Given the description of an element on the screen output the (x, y) to click on. 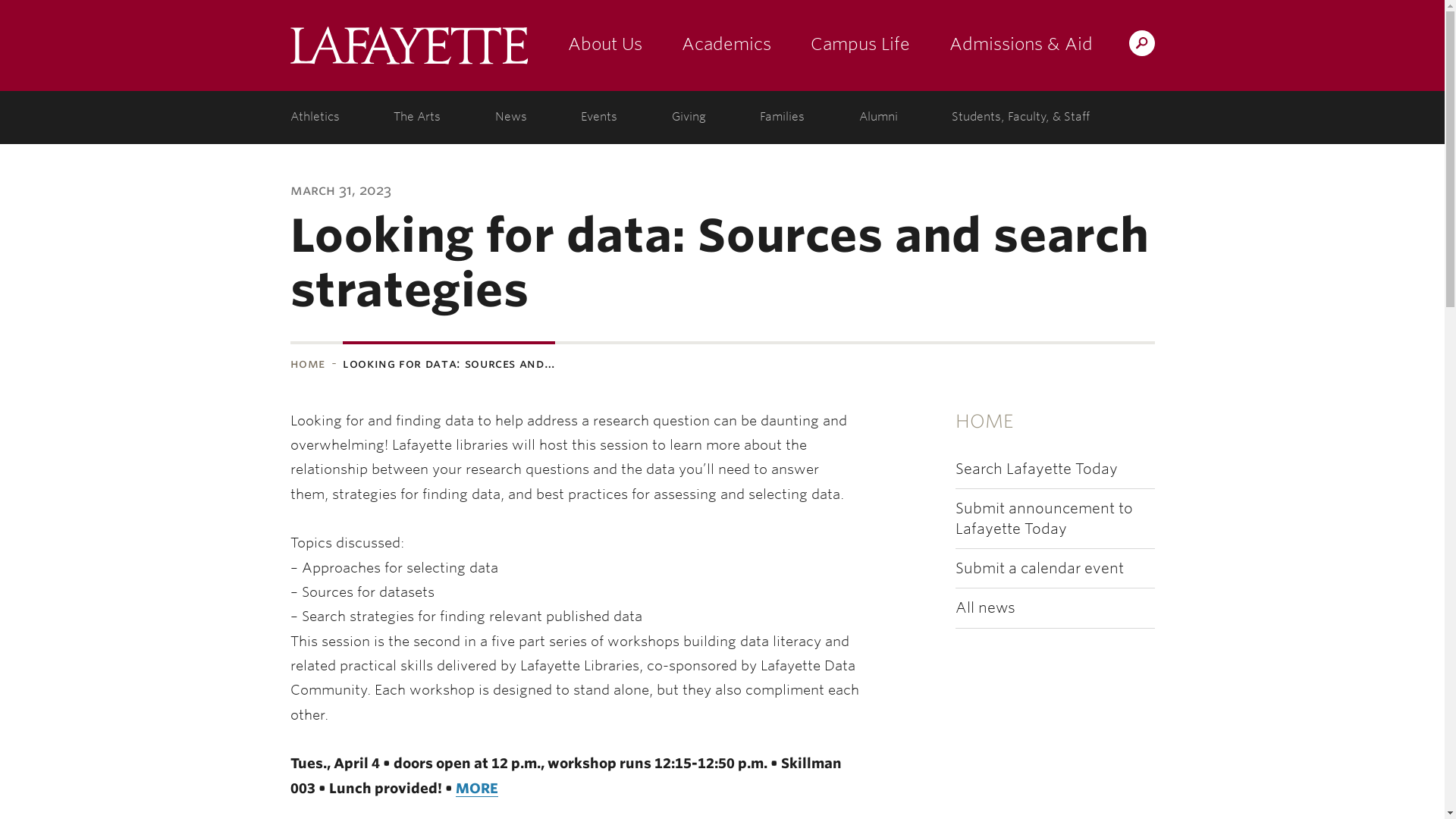
Athletics (317, 116)
About Us (603, 45)
Lafayette College (408, 45)
Academics (725, 45)
The Arts (416, 116)
Search Lafayette.edu (1141, 43)
News (510, 116)
Campus Life (859, 45)
Search (842, 42)
